Given the description of an element on the screen output the (x, y) to click on. 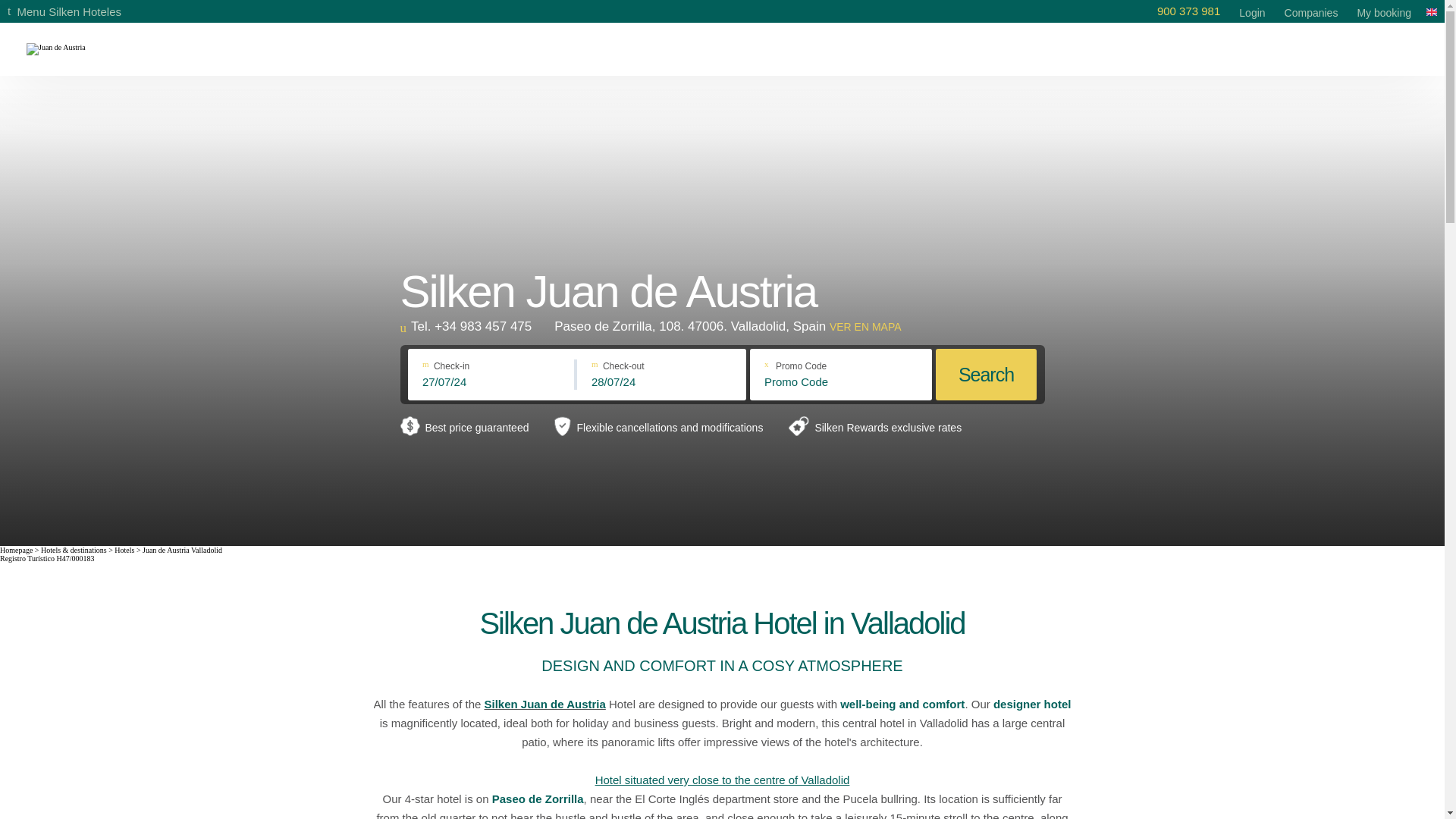
Search (986, 374)
